Given the description of an element on the screen output the (x, y) to click on. 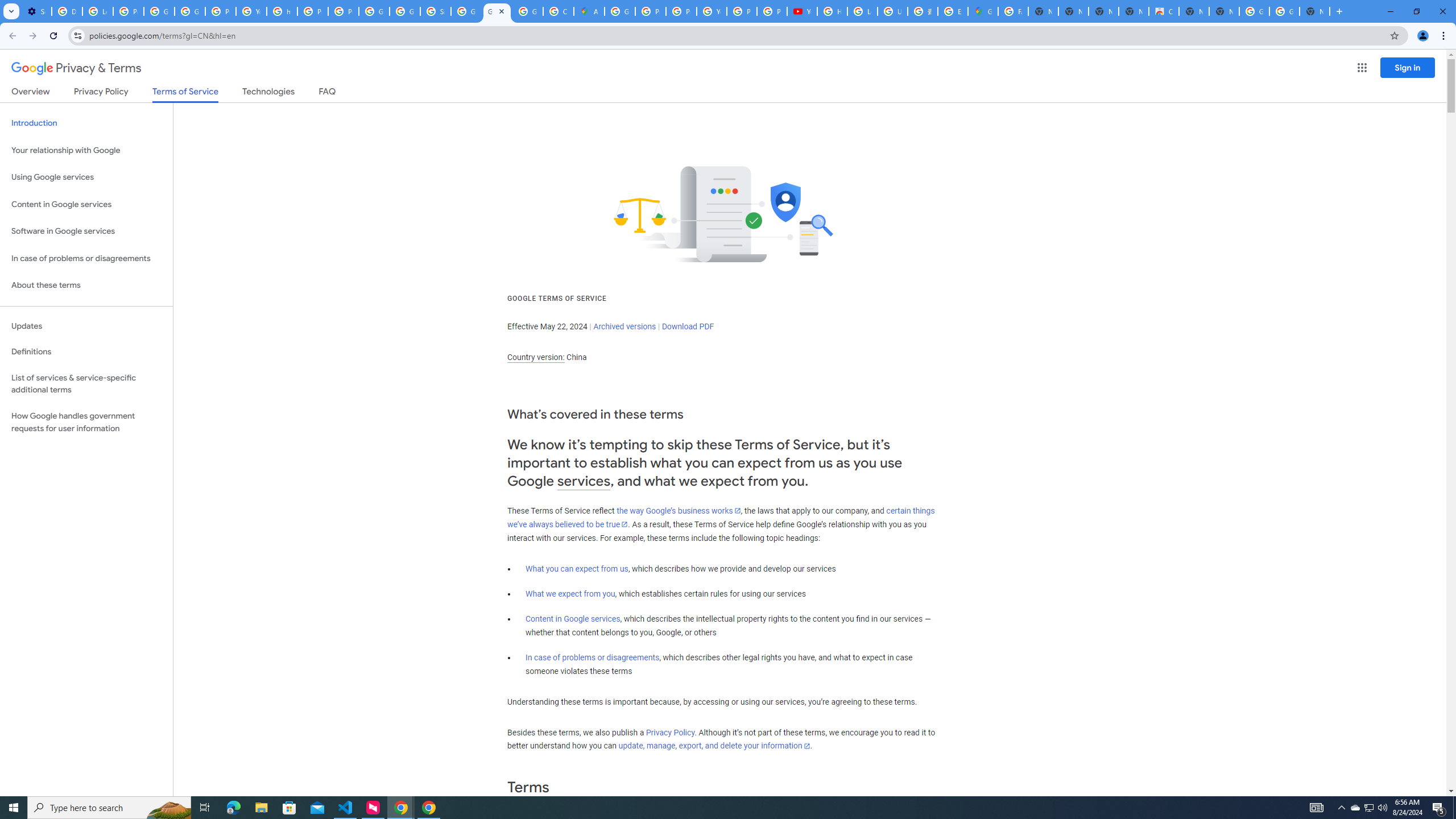
Chrome Web Store (1163, 11)
How Chrome protects your passwords - Google Chrome Help (832, 11)
Your relationship with Google (86, 150)
Using Google services (86, 176)
Explore new street-level details - Google Maps Help (952, 11)
